Given the description of an element on the screen output the (x, y) to click on. 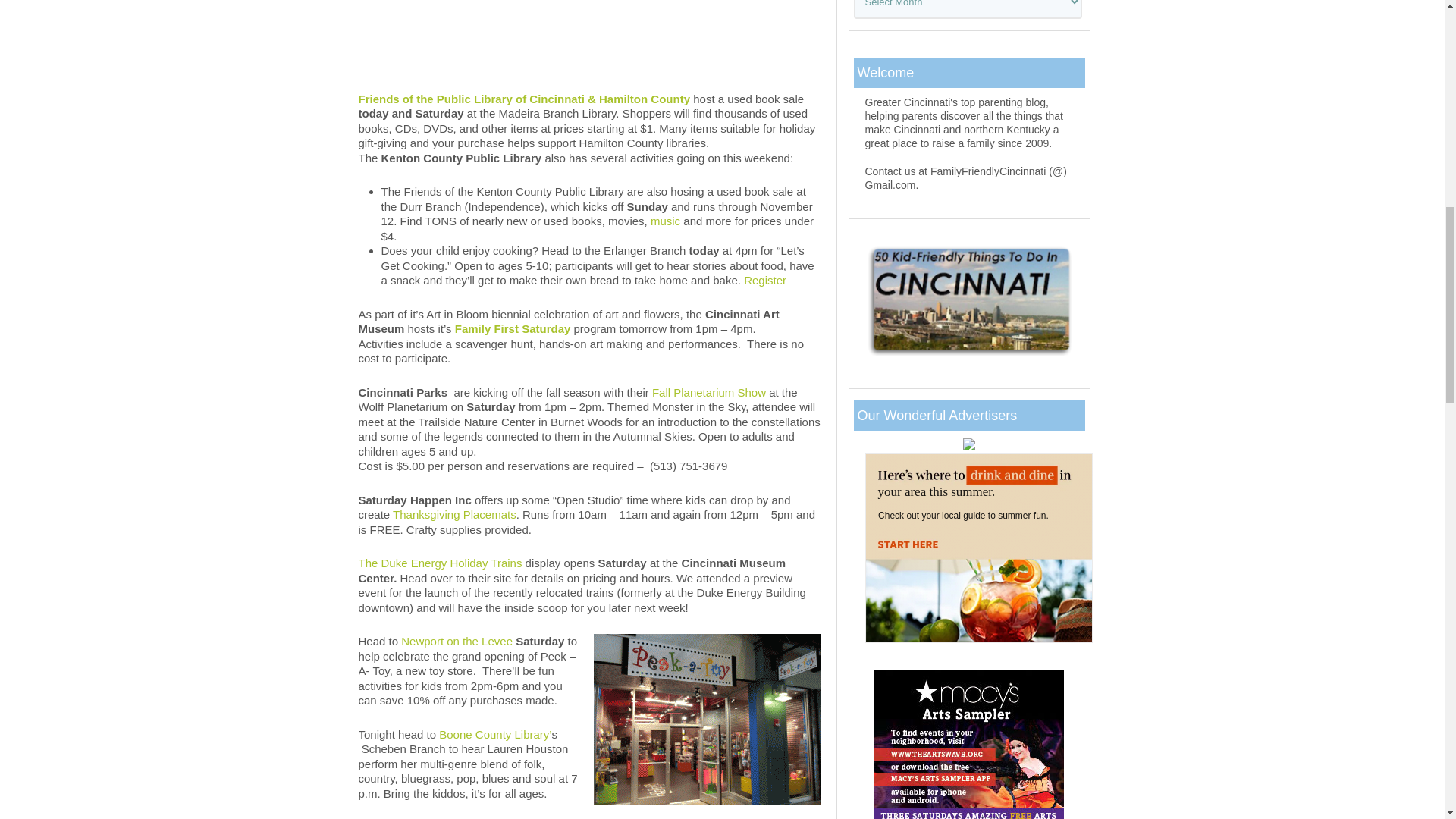
music (664, 220)
Newport on the Levee (456, 640)
Peek a Toy (706, 718)
Family First Saturday (512, 328)
3rd party ad content (978, 547)
Thanksgiving Placemats (454, 513)
FallWUTW (589, 27)
The Duke Energy Holiday Trains (441, 562)
Fall Planetarium Show (708, 391)
Register (765, 279)
